Given the description of an element on the screen output the (x, y) to click on. 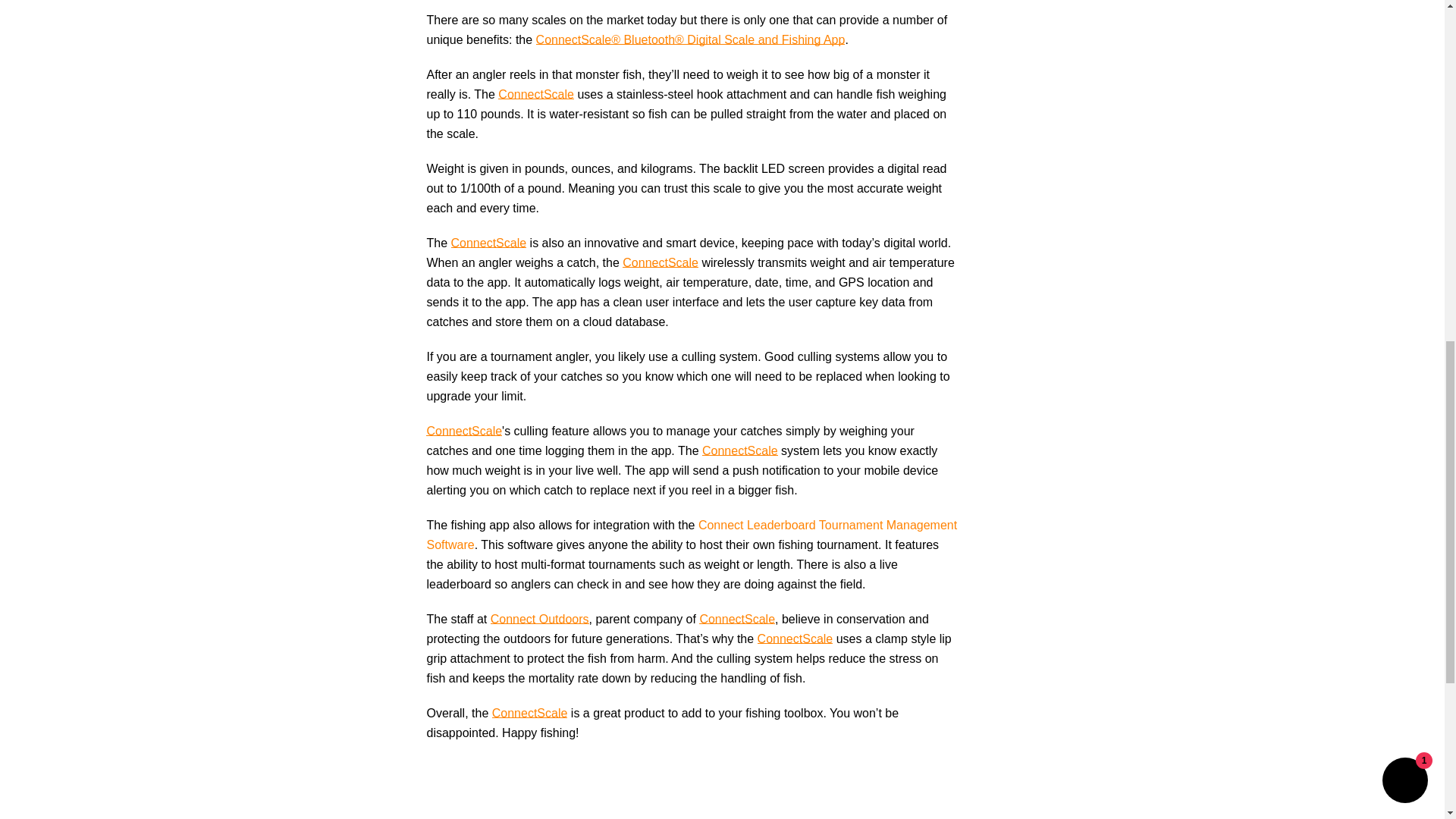
ConnectScale (535, 93)
ConnectScale (736, 618)
ConnectScale (739, 450)
Shopify online store chat (1404, 8)
ConnectScale (660, 262)
ConnectScale (487, 242)
ConnectScale (794, 638)
Connect Outdoors (539, 618)
ConnectScale (464, 431)
Connect Leaderboard Tournament Management Software (691, 534)
ConnectScale (529, 712)
